Given the description of an element on the screen output the (x, y) to click on. 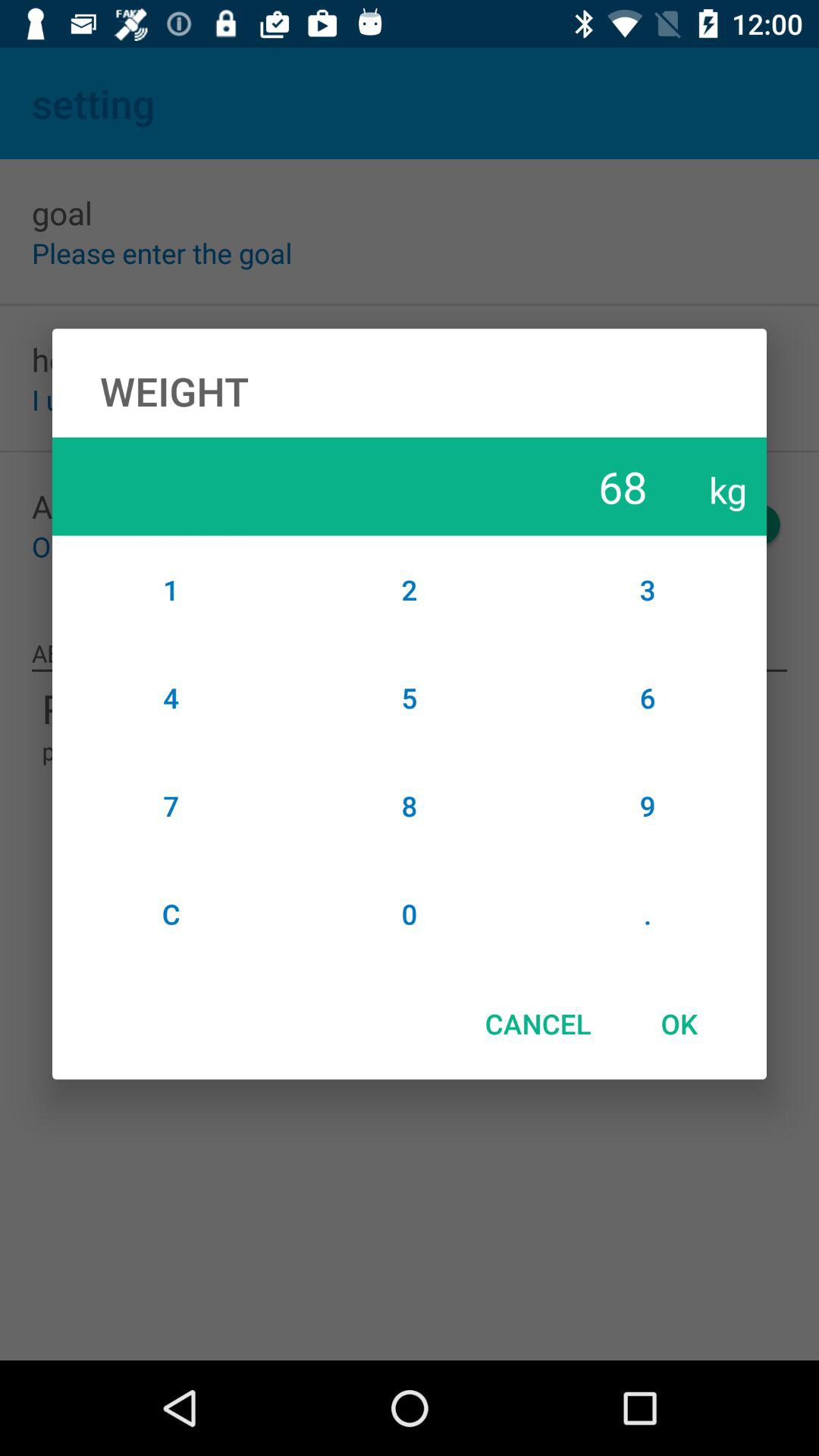
tap the cancel (538, 1023)
